Given the description of an element on the screen output the (x, y) to click on. 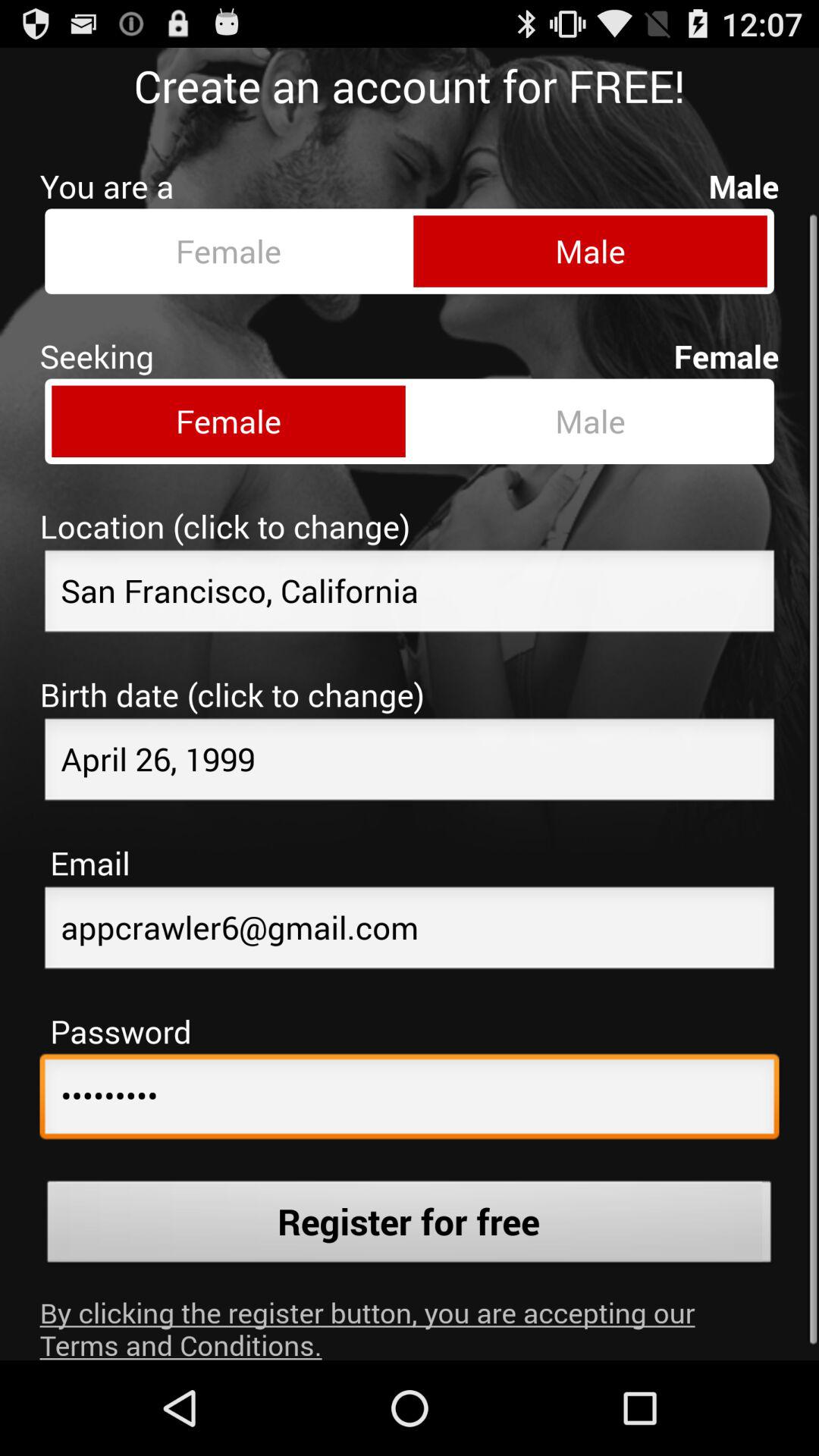
change location (409, 581)
